Given the description of an element on the screen output the (x, y) to click on. 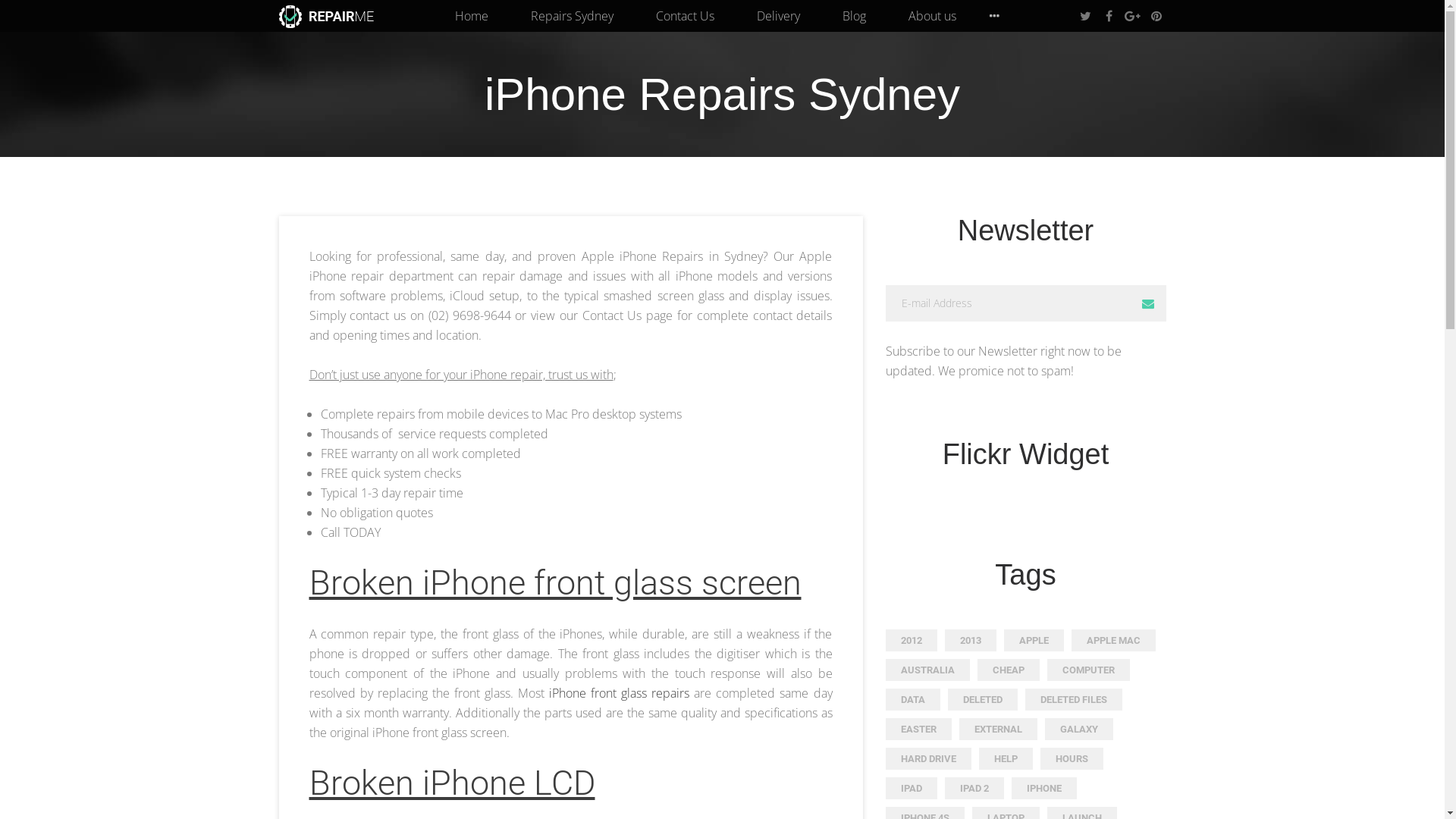
IPAD Element type: text (911, 788)
IPAD 2 Element type: text (974, 788)
HOURS Element type: text (1071, 758)
AUSTRALIA Element type: text (927, 669)
EXTERNAL Element type: text (997, 729)
HELP Element type: text (1005, 758)
IPHONE Element type: text (1043, 788)
iPhone front glass repairs Element type: text (619, 692)
Blog Element type: text (853, 15)
DELETED FILES Element type: text (1073, 699)
2012 Element type: text (911, 640)
Subscribe Element type: text (1147, 303)
Contact Us Element type: text (683, 15)
DELETED Element type: text (982, 699)
CHEAP Element type: text (1007, 669)
COMPUTER Element type: text (1087, 669)
EASTER Element type: text (918, 729)
APPLE MAC Element type: text (1112, 640)
APPLE Element type: text (1033, 640)
GALAXY Element type: text (1078, 729)
Delivery Element type: text (778, 15)
Repairs Sydney Element type: text (571, 15)
2013 Element type: text (970, 640)
About us Element type: text (932, 15)
DATA Element type: text (912, 699)
HARD DRIVE Element type: text (928, 758)
Home Element type: text (471, 15)
